Given the description of an element on the screen output the (x, y) to click on. 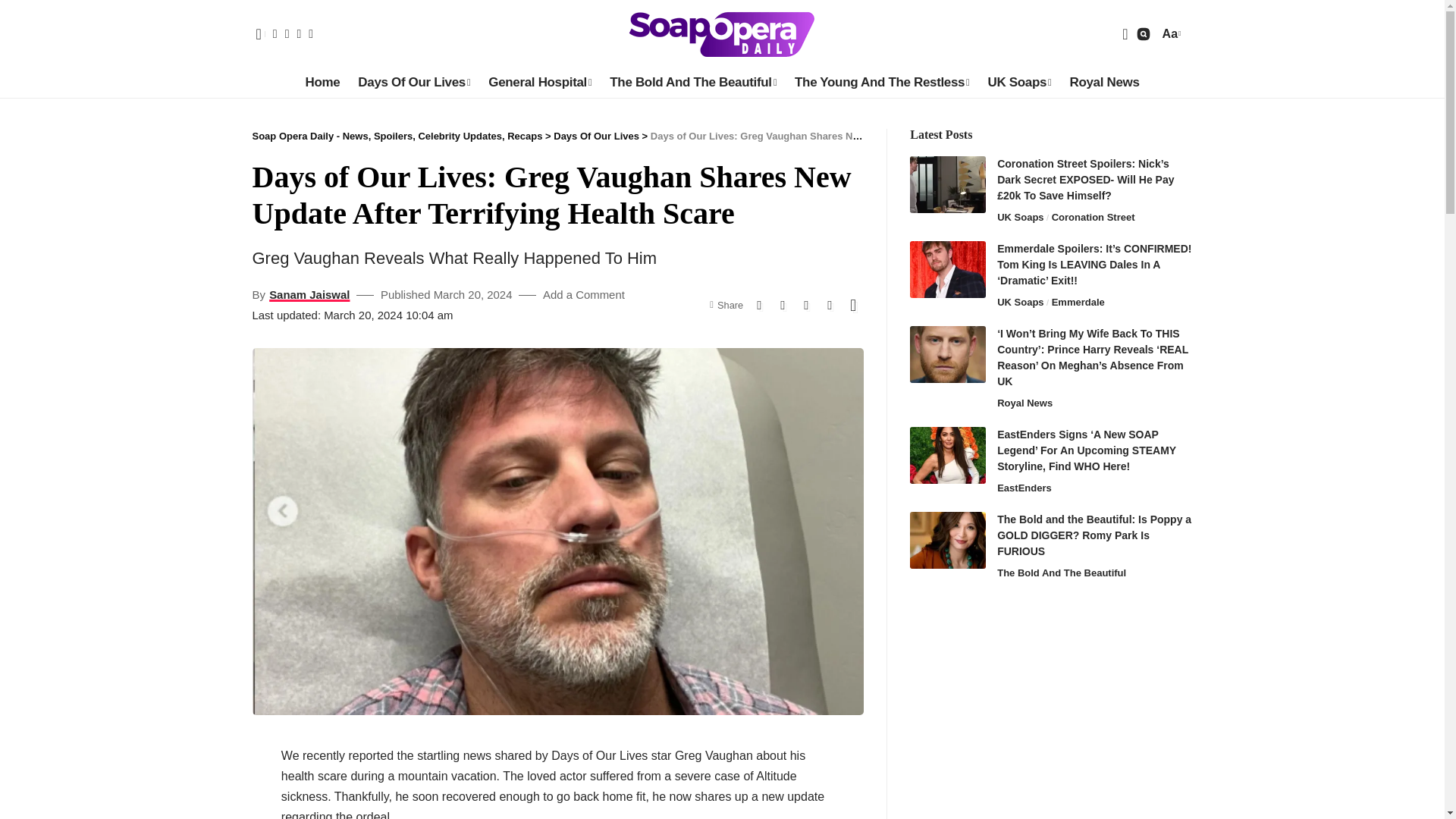
Royal News (1103, 82)
General Hospital (539, 82)
The Young And The Restless (882, 82)
The Bold And The Beautiful (692, 82)
UK Soaps (1019, 82)
Go to the Days Of Our Lives Category archives. (596, 135)
Home (322, 82)
Days Of Our Lives (414, 82)
Aa (1169, 33)
Soap Opera Daily - News, Spoilers, Celebrity Updates, Recaps (721, 33)
